Given the description of an element on the screen output the (x, y) to click on. 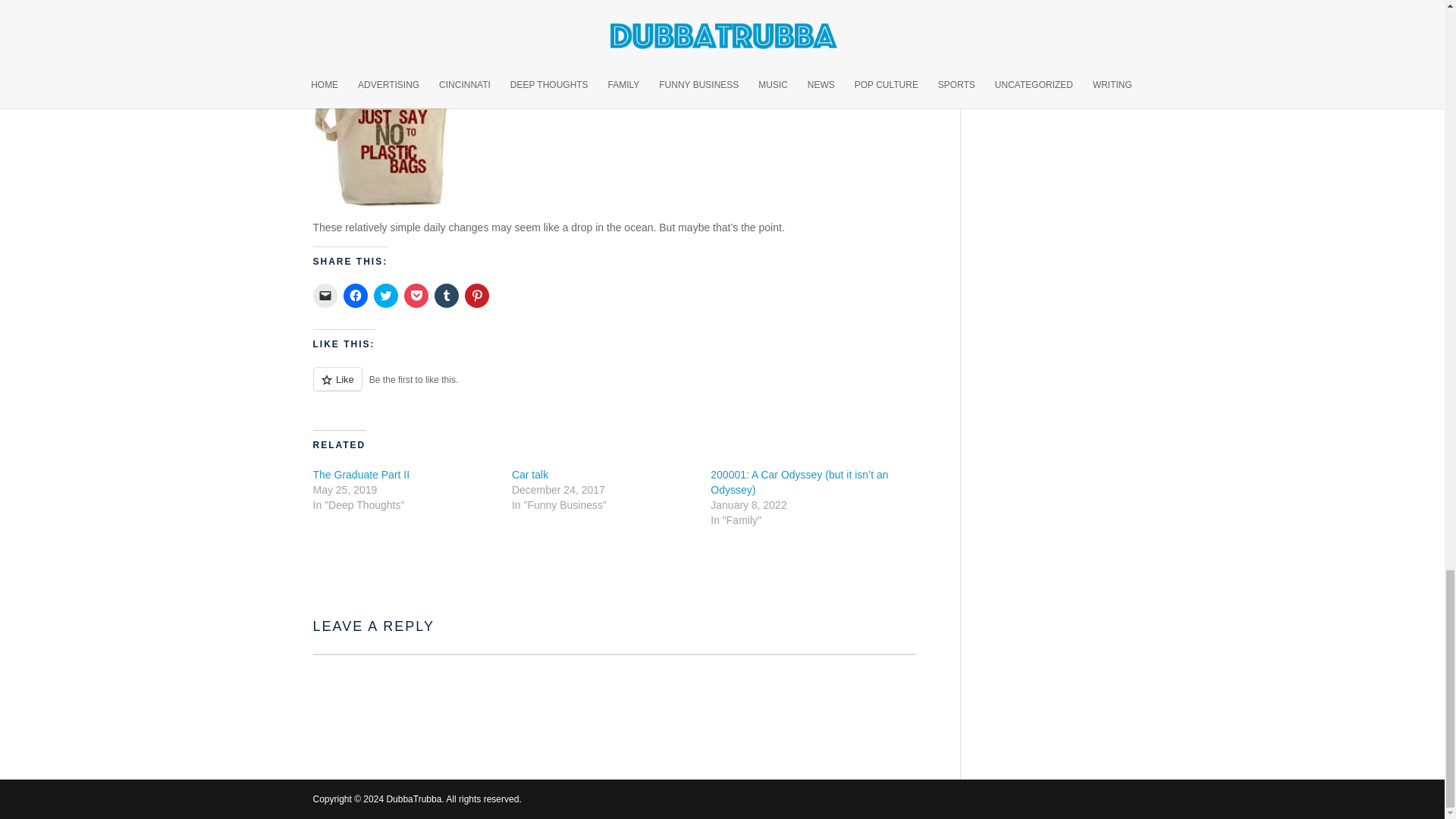
Click to email a link to a friend (324, 295)
Click to share on Facebook (354, 295)
Click to share on Tumblr (445, 295)
Click to share on Pocket (415, 295)
Click to share on Pinterest (475, 295)
Click to share on Twitter (384, 295)
The Graduate Part II (361, 474)
Car talk (530, 474)
Like or Reblog (614, 387)
